Given the description of an element on the screen output the (x, y) to click on. 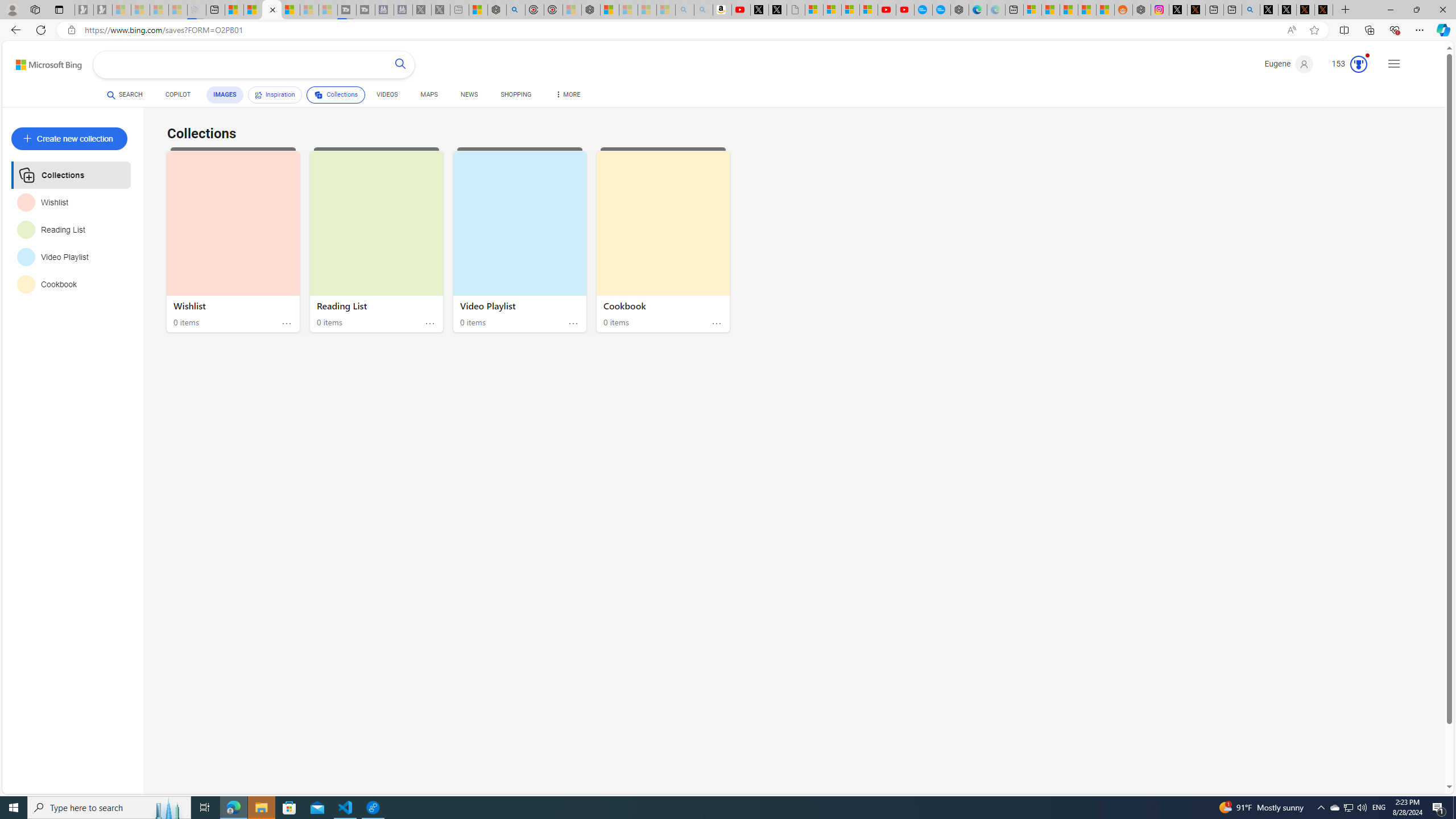
NEWS (468, 96)
Search button (400, 64)
Log in to X / X (1178, 9)
X Privacy Policy (1324, 9)
NEWS (468, 94)
Back to Bing search (41, 61)
Untitled (795, 9)
GitHub (@github) / X (1287, 9)
Class: medal-circled (1358, 63)
